Given the description of an element on the screen output the (x, y) to click on. 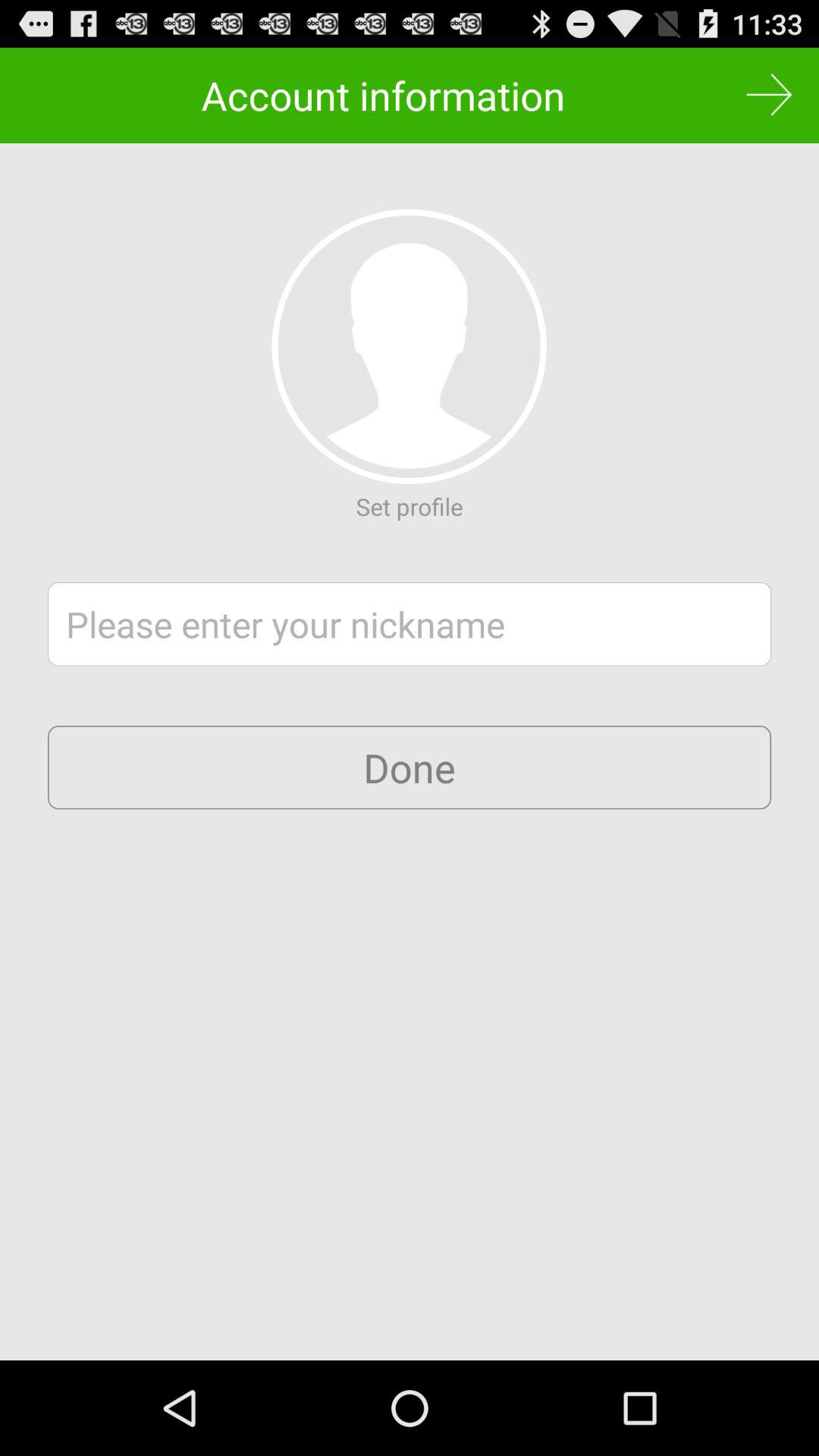
skip option (769, 95)
